Given the description of an element on the screen output the (x, y) to click on. 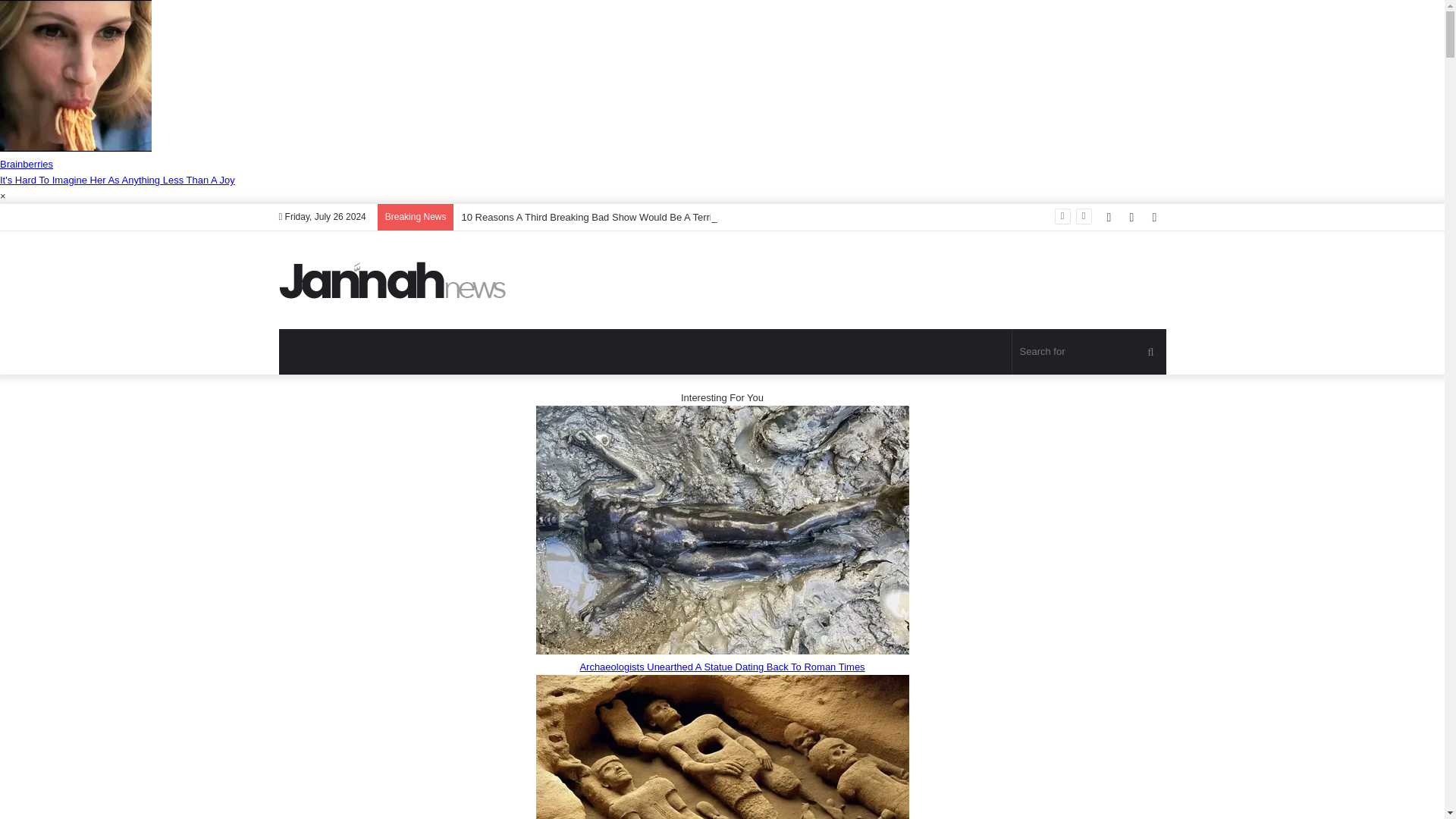
Search for (1088, 351)
Movie News (392, 279)
